Given the description of an element on the screen output the (x, y) to click on. 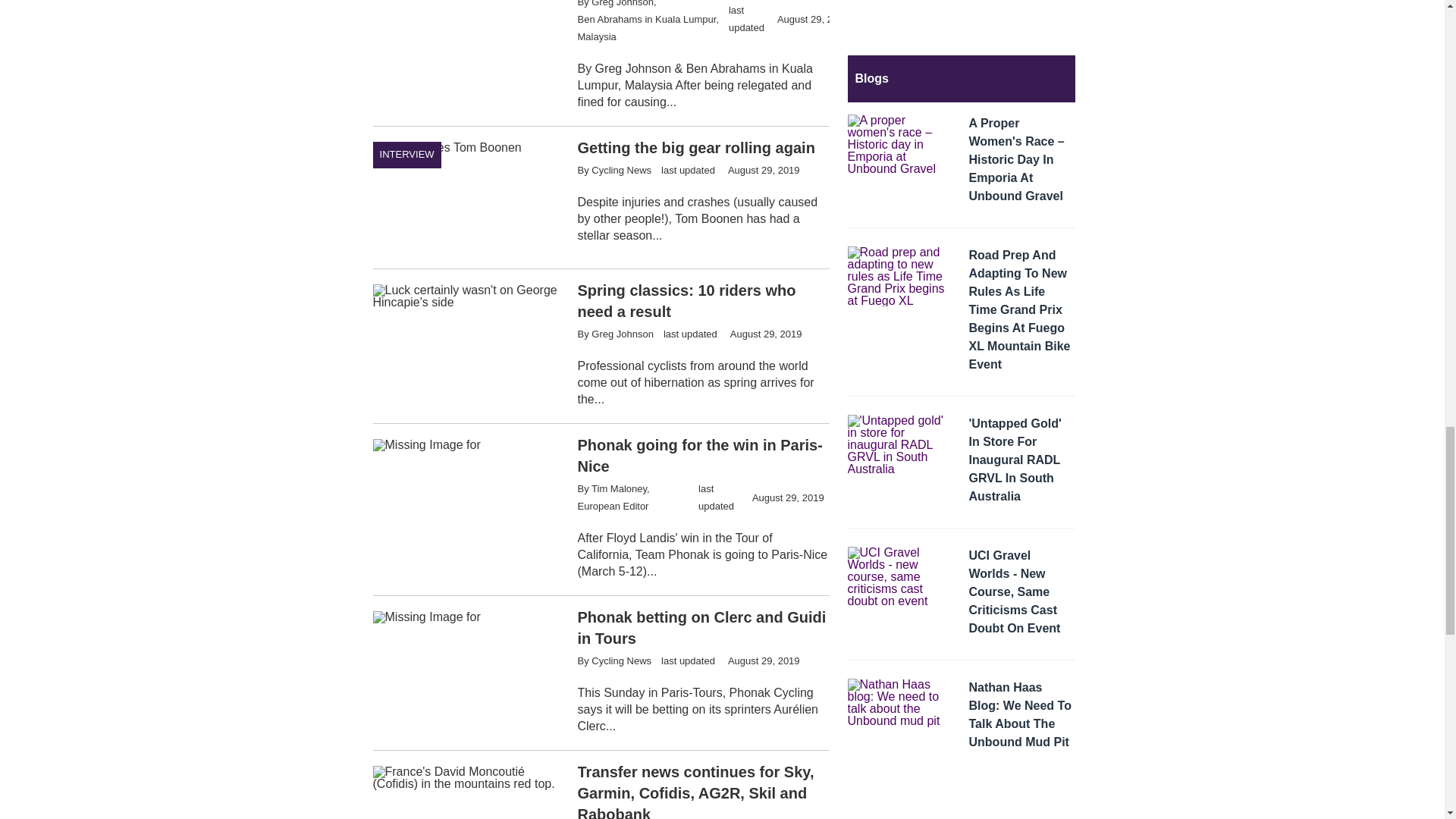
Nathan Haas blog: We need to talk about the Unbound mud pit (1022, 716)
